Given the description of an element on the screen output the (x, y) to click on. 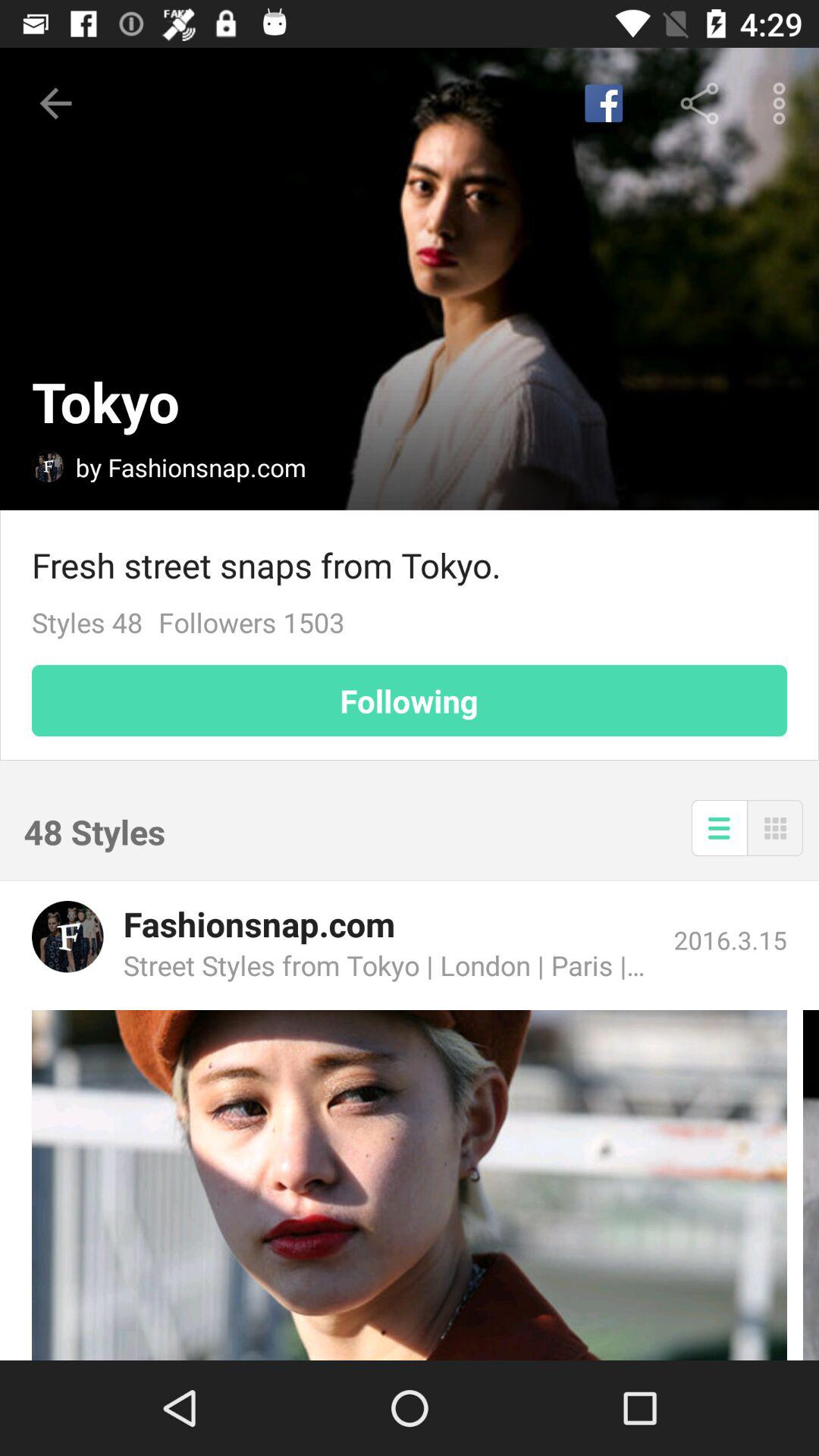
display list mode (718, 827)
